Given the description of an element on the screen output the (x, y) to click on. 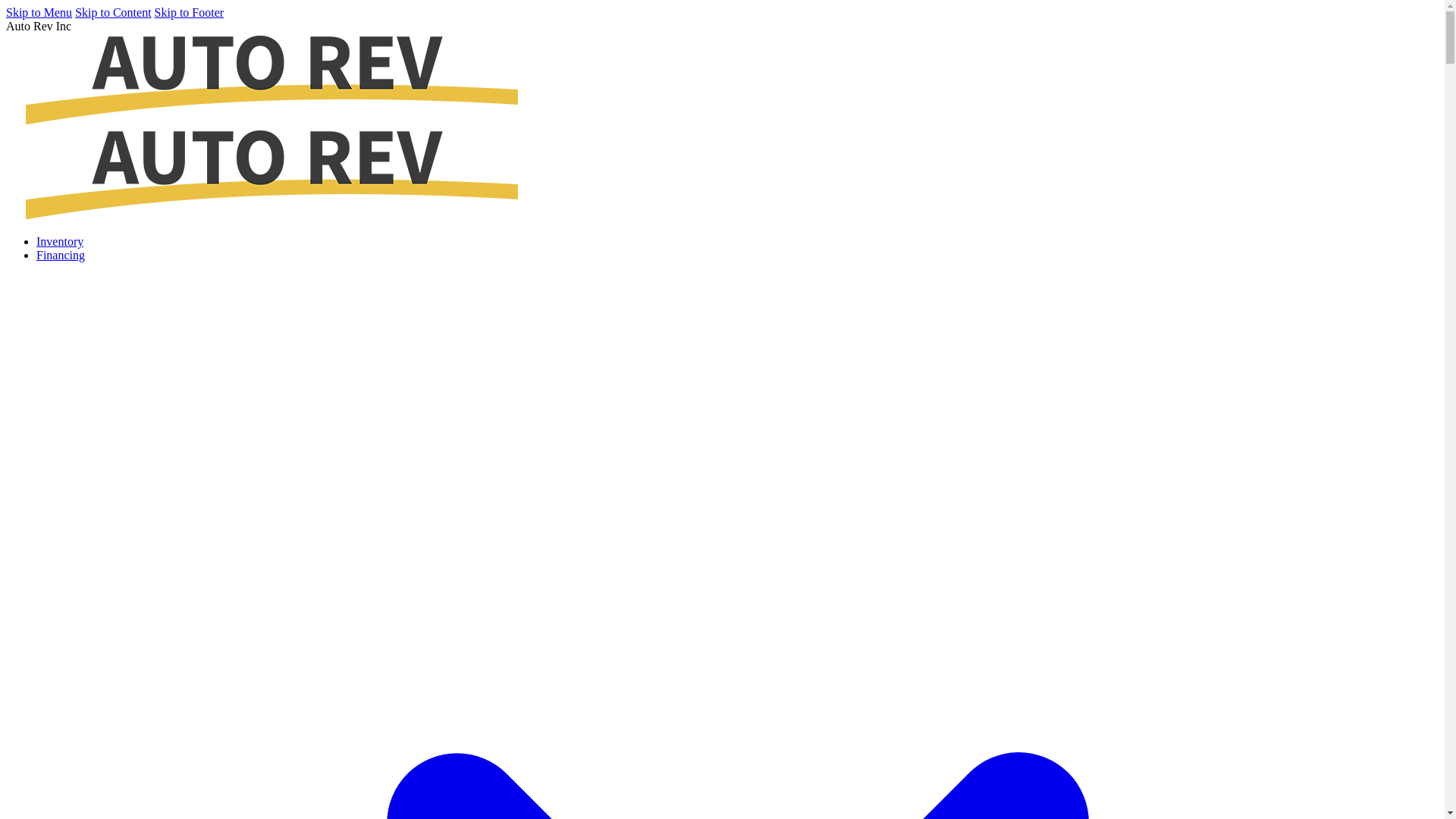
Skip to Menu Element type: text (39, 12)
Skip to Footer Element type: text (189, 12)
Inventory Element type: text (59, 241)
Skip to Content Element type: text (112, 12)
